Given the description of an element on the screen output the (x, y) to click on. 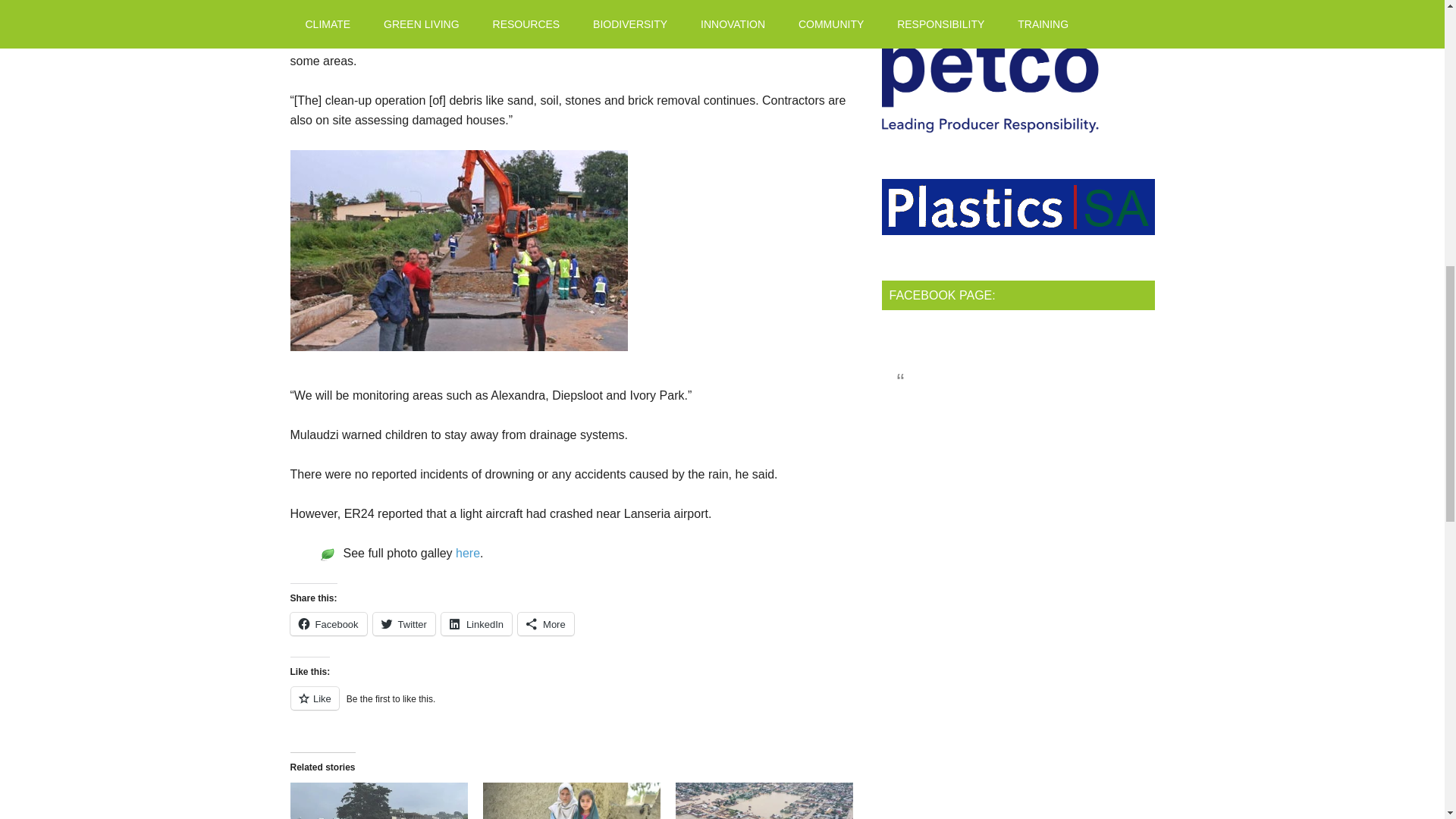
Pakistan children reeling after catastrophic floods (572, 800)
Click to share on LinkedIn (476, 623)
Click to share on Facebook (327, 623)
Unprecedented flooding affects thousands in Chad (764, 800)
Click to share on Twitter (403, 623)
Humanitarian response ramped up after Libya floods (378, 800)
Like or Reblog (574, 707)
